Given the description of an element on the screen output the (x, y) to click on. 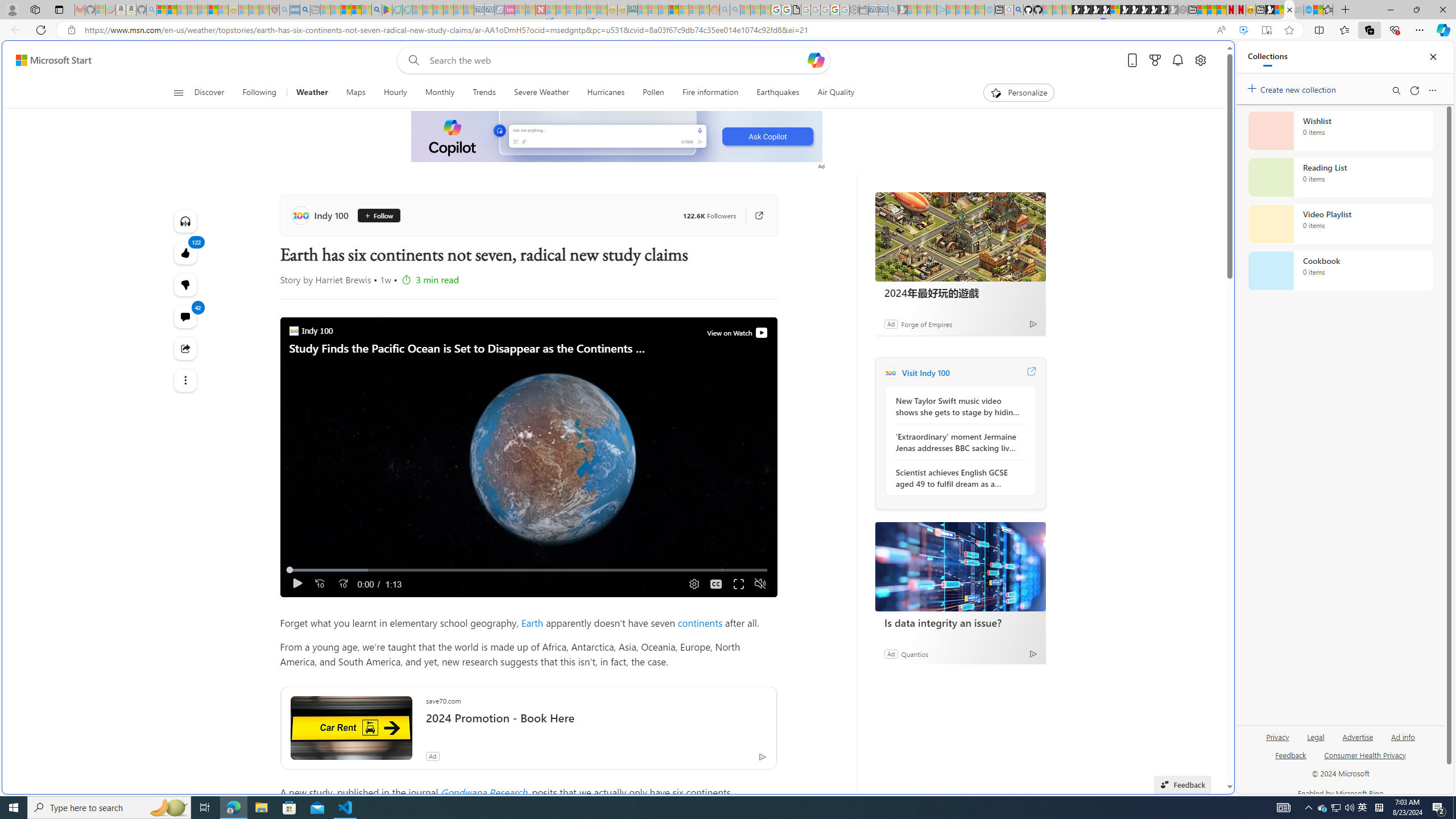
Go to publisher's site (752, 215)
Enhance video (1243, 29)
Consumer Health Privacy (1364, 754)
Monthly (440, 92)
Class: at-item (184, 380)
Seek Forward (341, 583)
Trends (484, 92)
Weather (311, 92)
Pollen (652, 92)
Services - Maintenance | Sky Blue Bikes - Sky Blue Bikes (1307, 9)
